Given the description of an element on the screen output the (x, y) to click on. 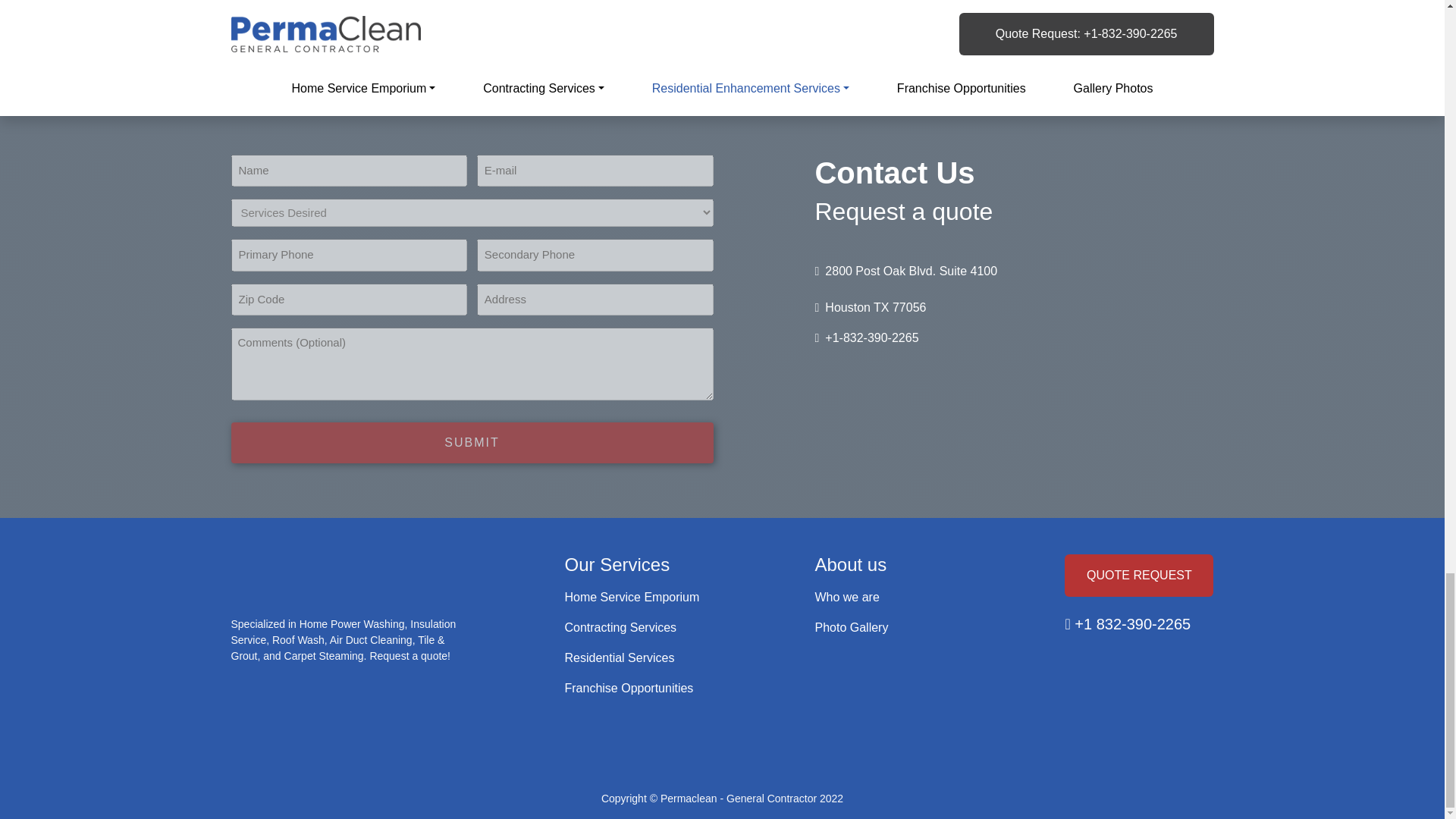
REQUEST A FREE QUOTE (721, 24)
Submit (471, 442)
Submit (471, 442)
